Given the description of an element on the screen output the (x, y) to click on. 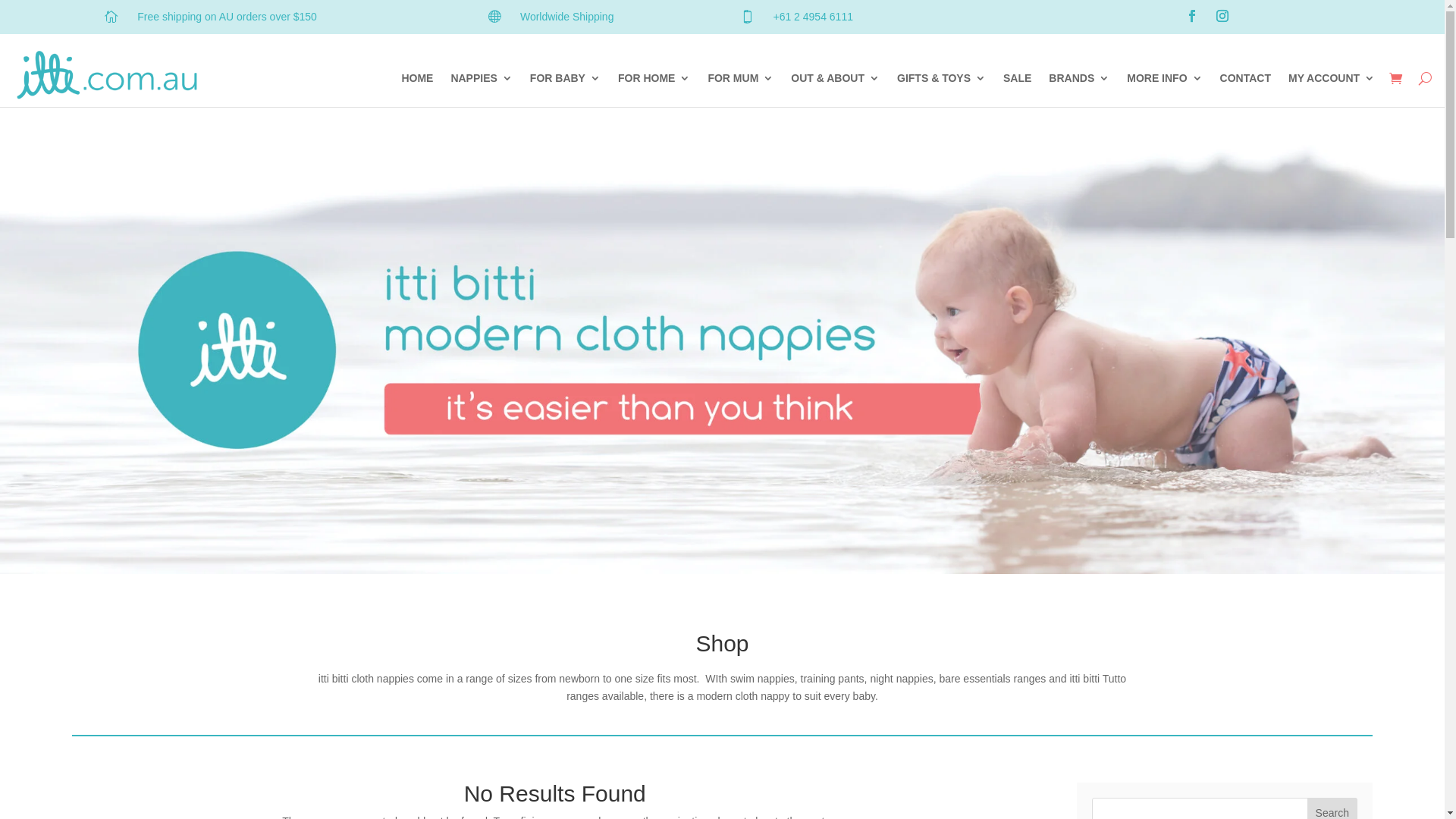
OUT & ABOUT Element type: text (834, 80)
FOR BABY Element type: text (565, 80)
NAPPIES Element type: text (480, 80)
MORE INFO Element type: text (1163, 80)
FOR HOME Element type: text (654, 80)
itti-banner-mobile Element type: hover (722, 348)
CONTACT Element type: text (1245, 80)
SALE Element type: text (1017, 80)
+61 2 4954 6111 Element type: text (812, 16)
BRANDS Element type: text (1078, 80)
GIFTS & TOYS Element type: text (941, 80)
Follow on Facebook Element type: hover (1191, 15)
Follow on Instagram Element type: hover (1222, 15)
HOME Element type: text (417, 80)
itti-logo Element type: hover (106, 74)
FOR MUM Element type: text (740, 80)
MY ACCOUNT Element type: text (1331, 80)
